Given the description of an element on the screen output the (x, y) to click on. 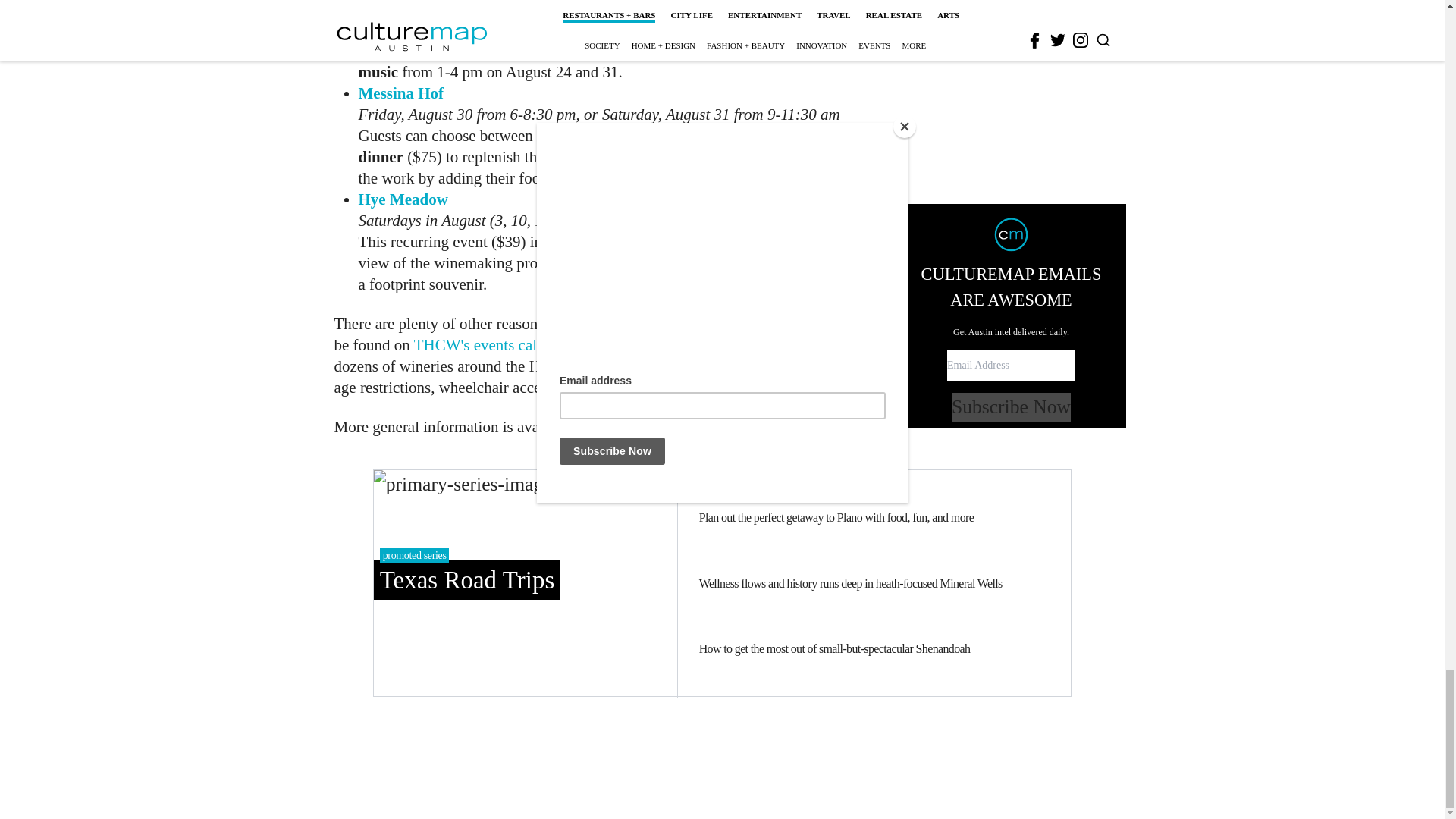
primary-link (525, 582)
